Given the description of an element on the screen output the (x, y) to click on. 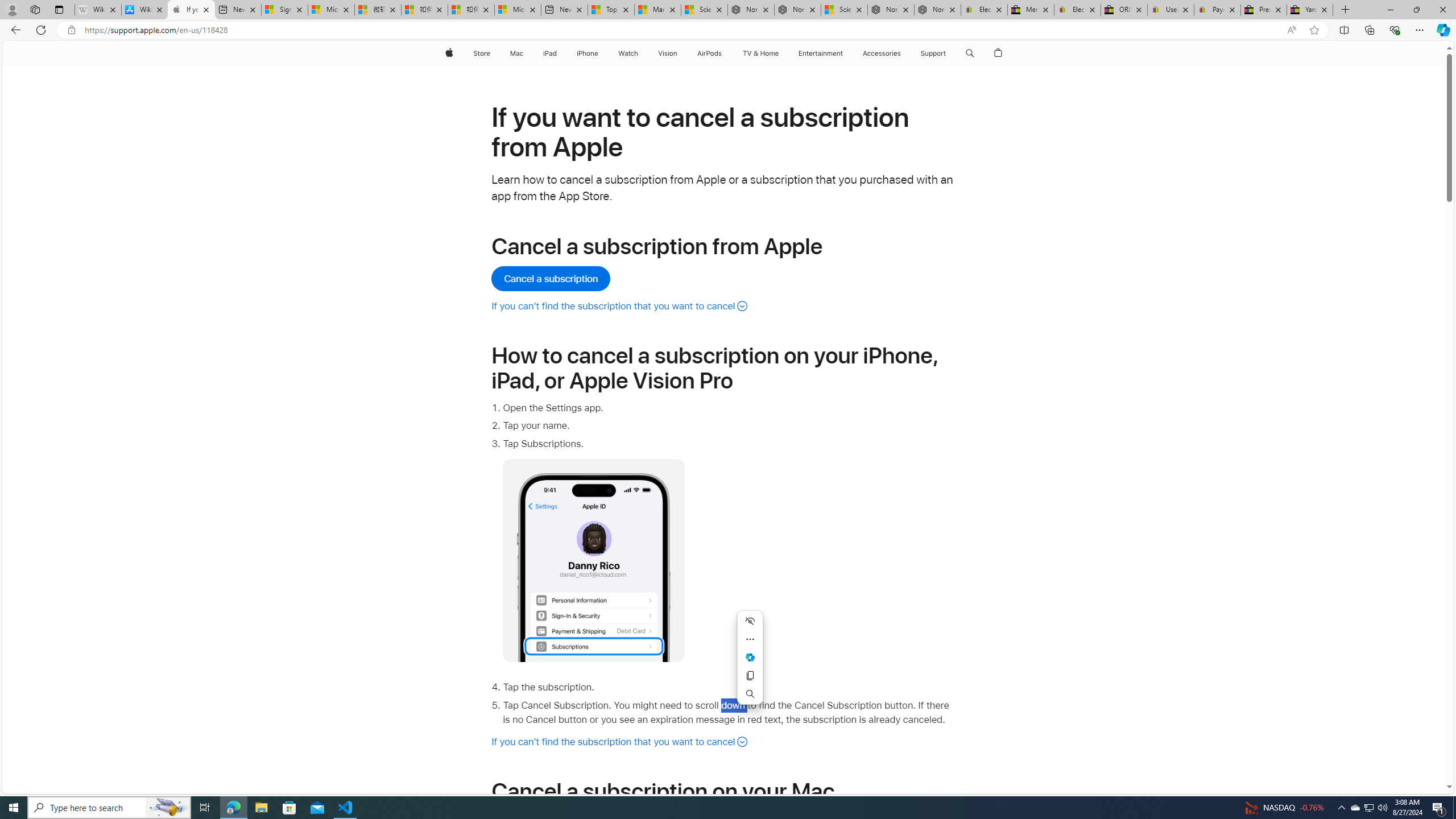
Vision (667, 53)
Add this page to favorites (Ctrl+D) (1314, 29)
App bar (728, 29)
Nordace - FAQ (937, 9)
New Tab (1346, 9)
Vision (667, 53)
Microsoft Services Agreement (330, 9)
Store (481, 53)
Wikipedia - Sleeping (97, 9)
Accessories (881, 53)
Nordace - Summer Adventures 2024 (890, 9)
Store (481, 53)
